Given the description of an element on the screen output the (x, y) to click on. 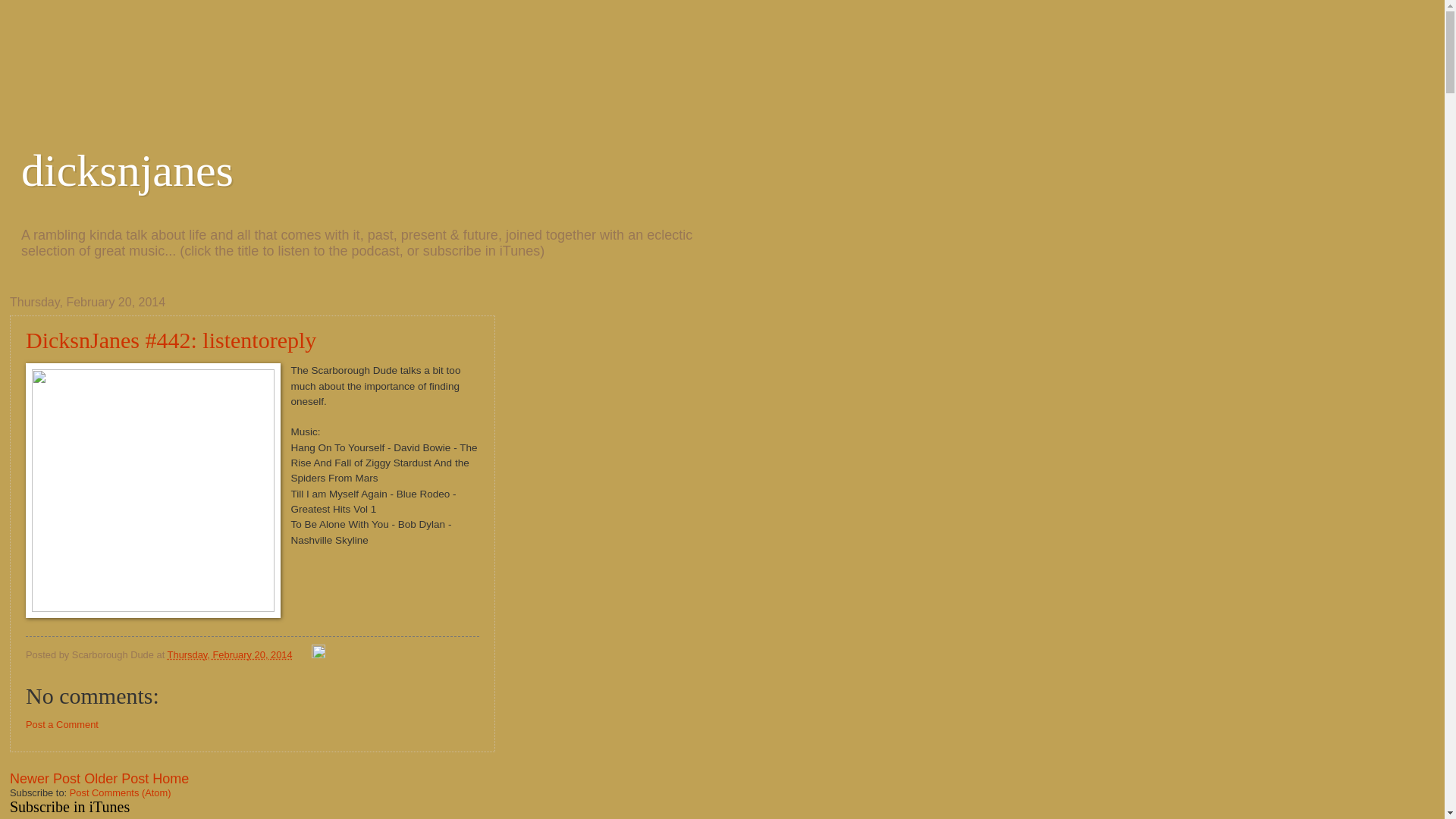
Home (170, 778)
permanent link (229, 654)
Newer Post (45, 778)
Older Post (116, 778)
Post a Comment (62, 724)
Edit Post (317, 654)
Email Post (303, 654)
Newer Post (45, 778)
dicksnjanes (126, 170)
Thursday, February 20, 2014 (229, 654)
Older Post (116, 778)
